Given the description of an element on the screen output the (x, y) to click on. 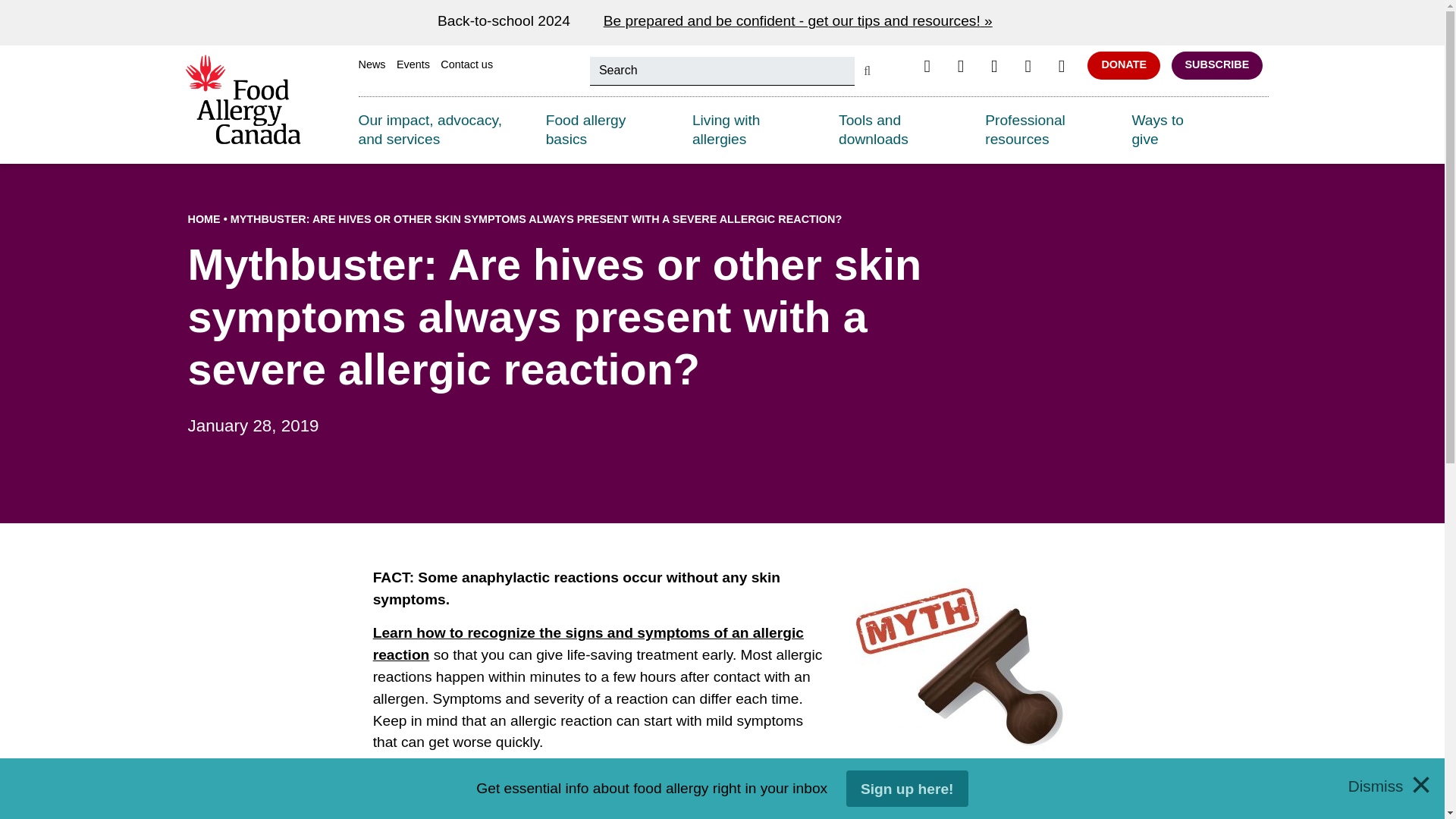
Contact us (467, 64)
SUBSCRIBE (1217, 65)
youtube (1061, 66)
Submit (866, 70)
Events (412, 64)
DONATE (1123, 65)
Be prepared and be confident - get our tips and resources! (797, 22)
News (371, 64)
facebook (926, 66)
instagram (993, 66)
linkedin (1026, 66)
twitter (959, 66)
Our impact, advocacy, and services (439, 130)
